Given the description of an element on the screen output the (x, y) to click on. 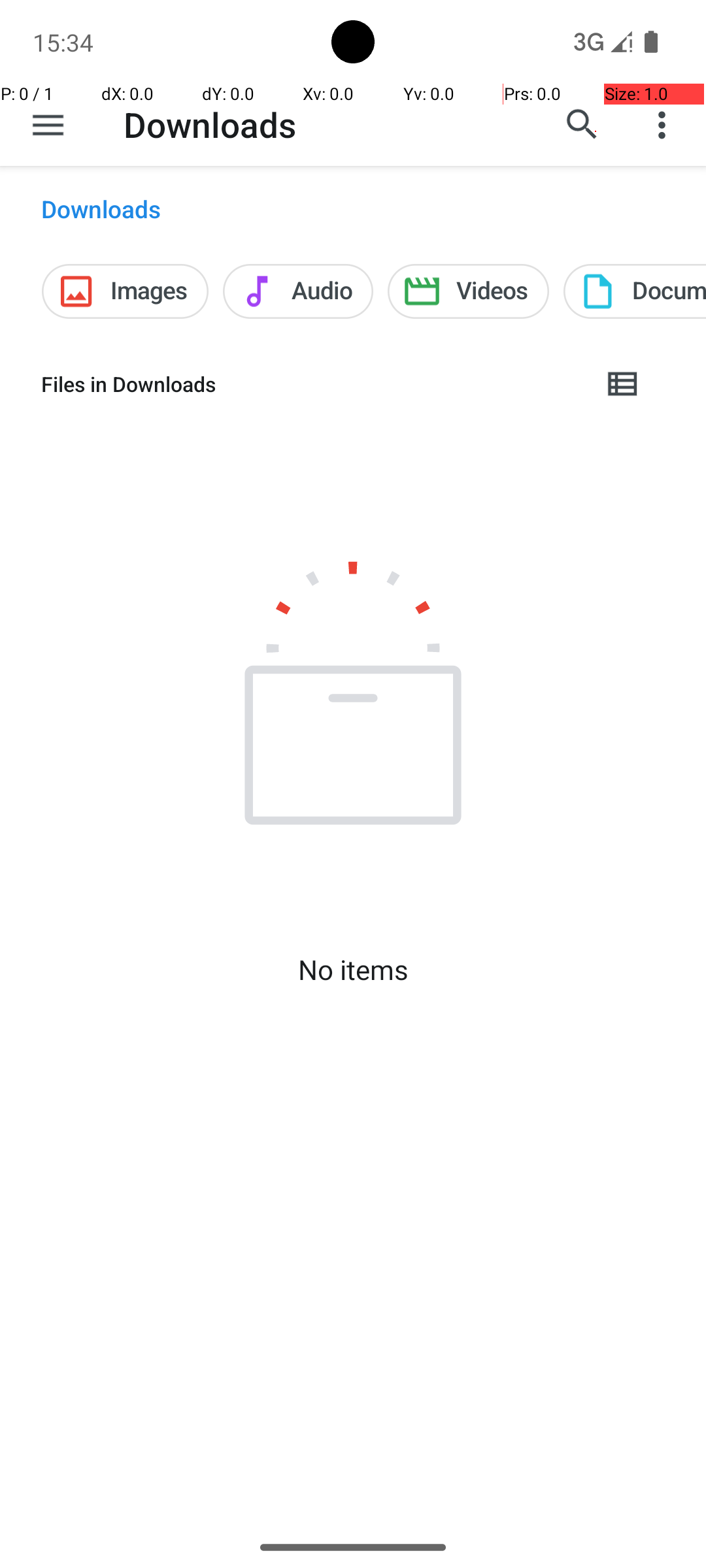
Show roots Element type: android.widget.ImageButton (48, 124)
Downloads Element type: android.widget.TextView (209, 124)
Files in Downloads Element type: android.widget.TextView (311, 383)
List view Element type: android.widget.TextView (622, 384)
Images Element type: android.widget.CompoundButton (124, 291)
Audio Element type: android.widget.CompoundButton (297, 291)
Videos Element type: android.widget.CompoundButton (468, 291)
Documents Element type: android.widget.CompoundButton (634, 291)
No items Element type: android.widget.TextView (352, 968)
